Given the description of an element on the screen output the (x, y) to click on. 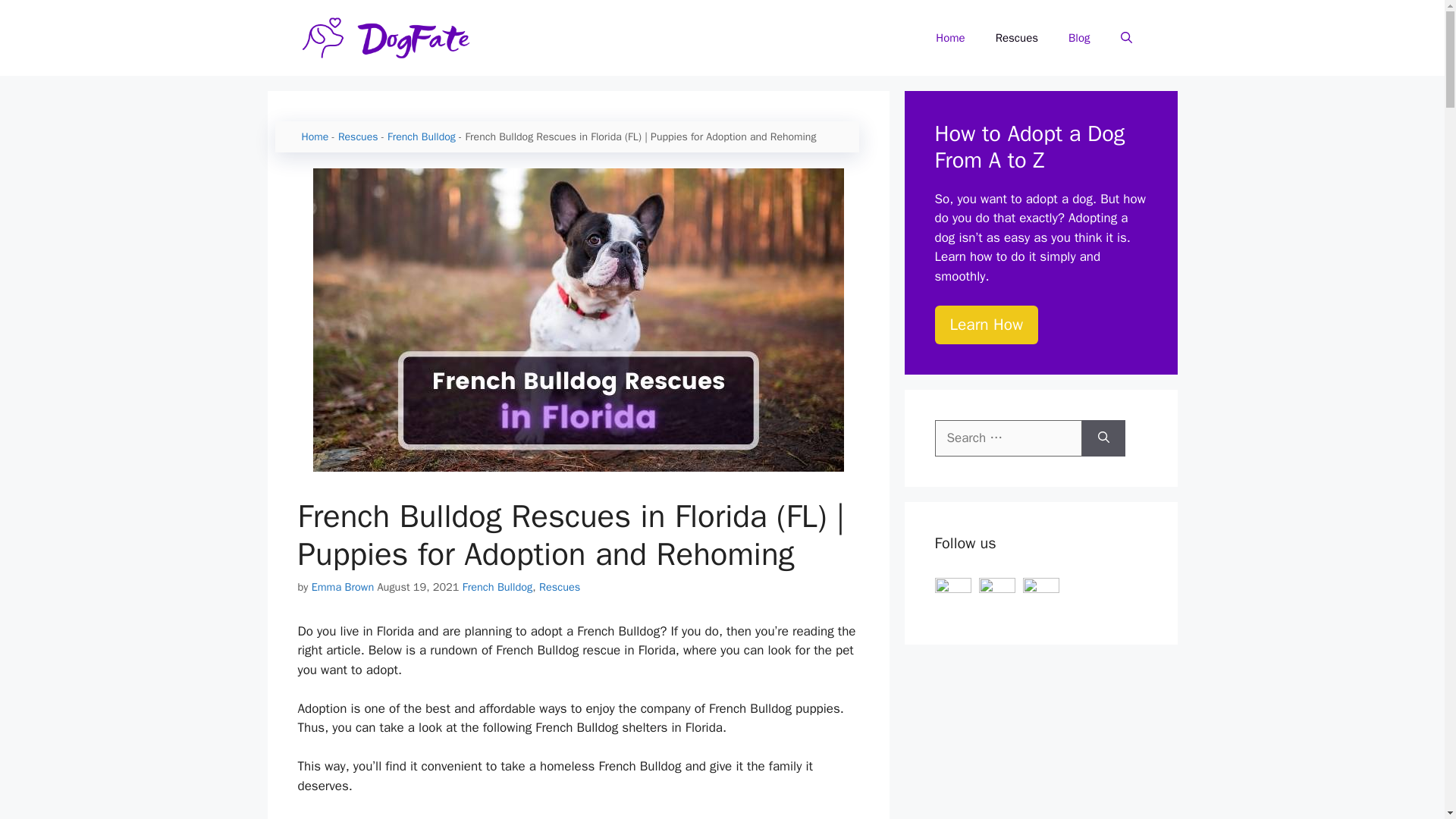
Emma Brown (342, 586)
Home (949, 37)
Rescues (357, 136)
French Bulldog (497, 586)
View all posts by Emma Brown (342, 586)
DogFate.com (396, 36)
Blog (1078, 37)
Rescues (558, 586)
Search for: (1007, 438)
Home (315, 136)
French Bulldog (421, 136)
DogFate.com (396, 37)
Rescues (1015, 37)
